Given the description of an element on the screen output the (x, y) to click on. 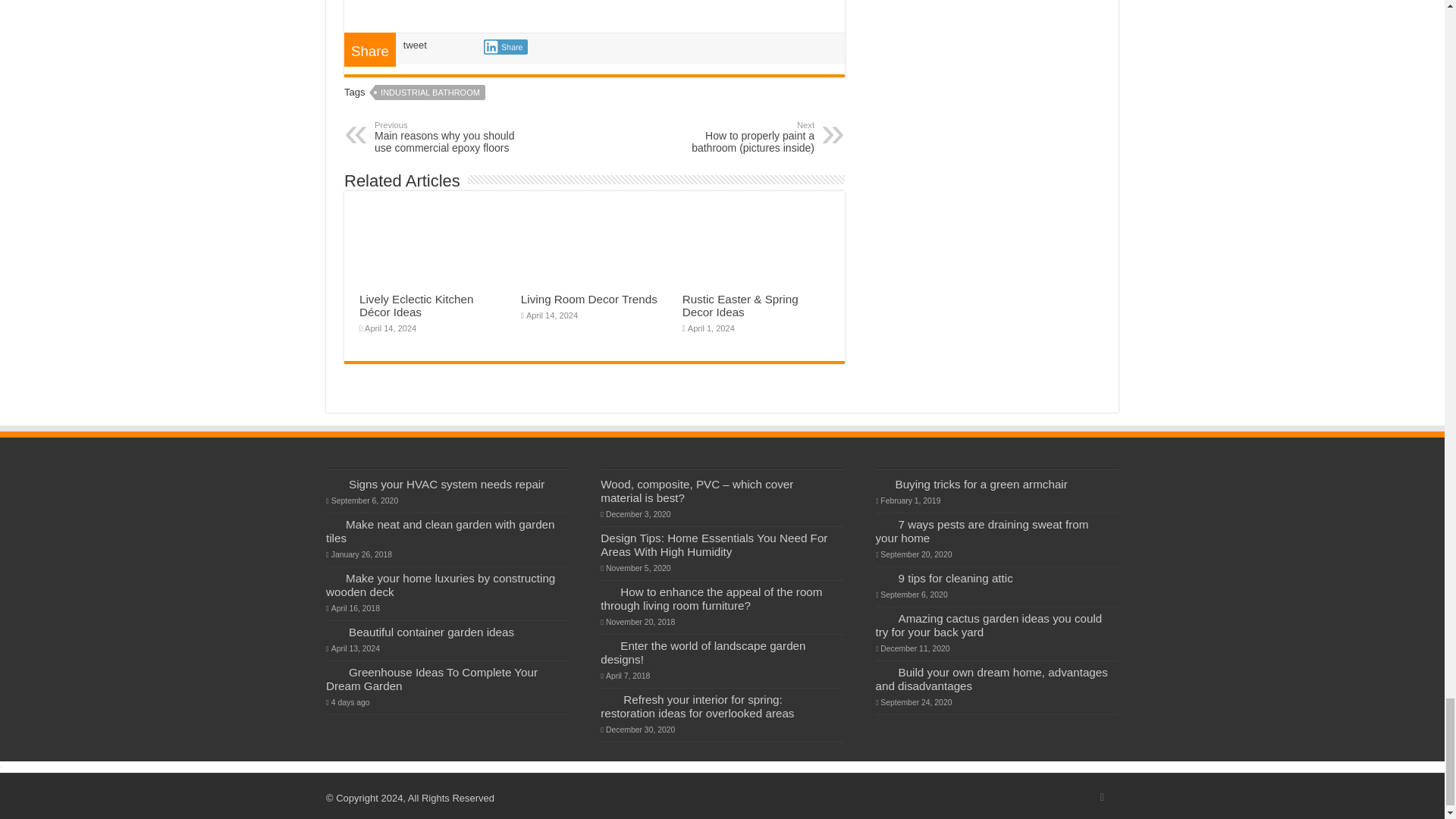
tweet (414, 44)
INDUSTRIAL BATHROOM (429, 92)
Share (505, 46)
